Given the description of an element on the screen output the (x, y) to click on. 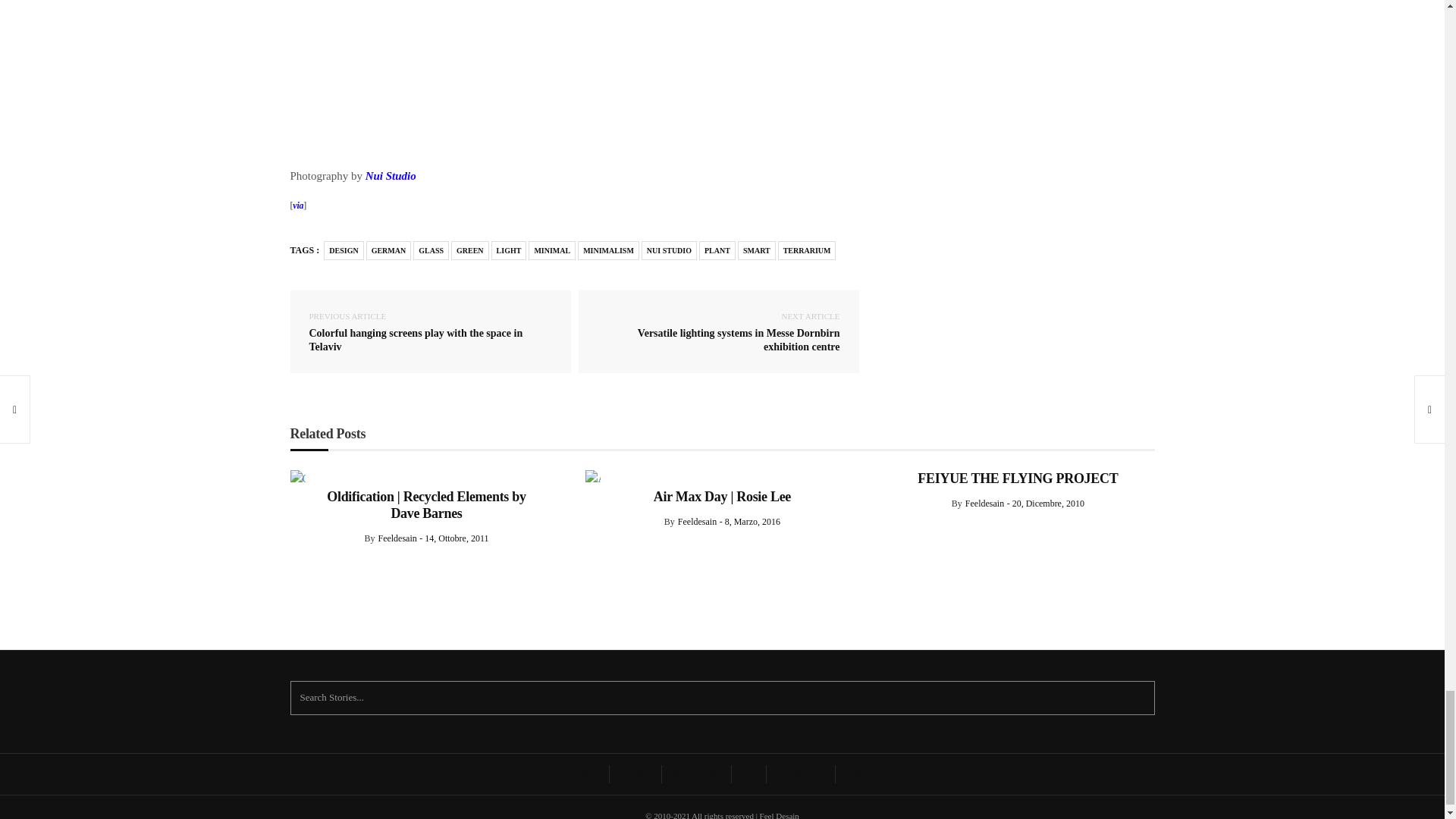
Nui Studio (390, 175)
GERMAN (389, 250)
GLASS (430, 250)
DESIGN (342, 250)
via (297, 204)
